Given the description of an element on the screen output the (x, y) to click on. 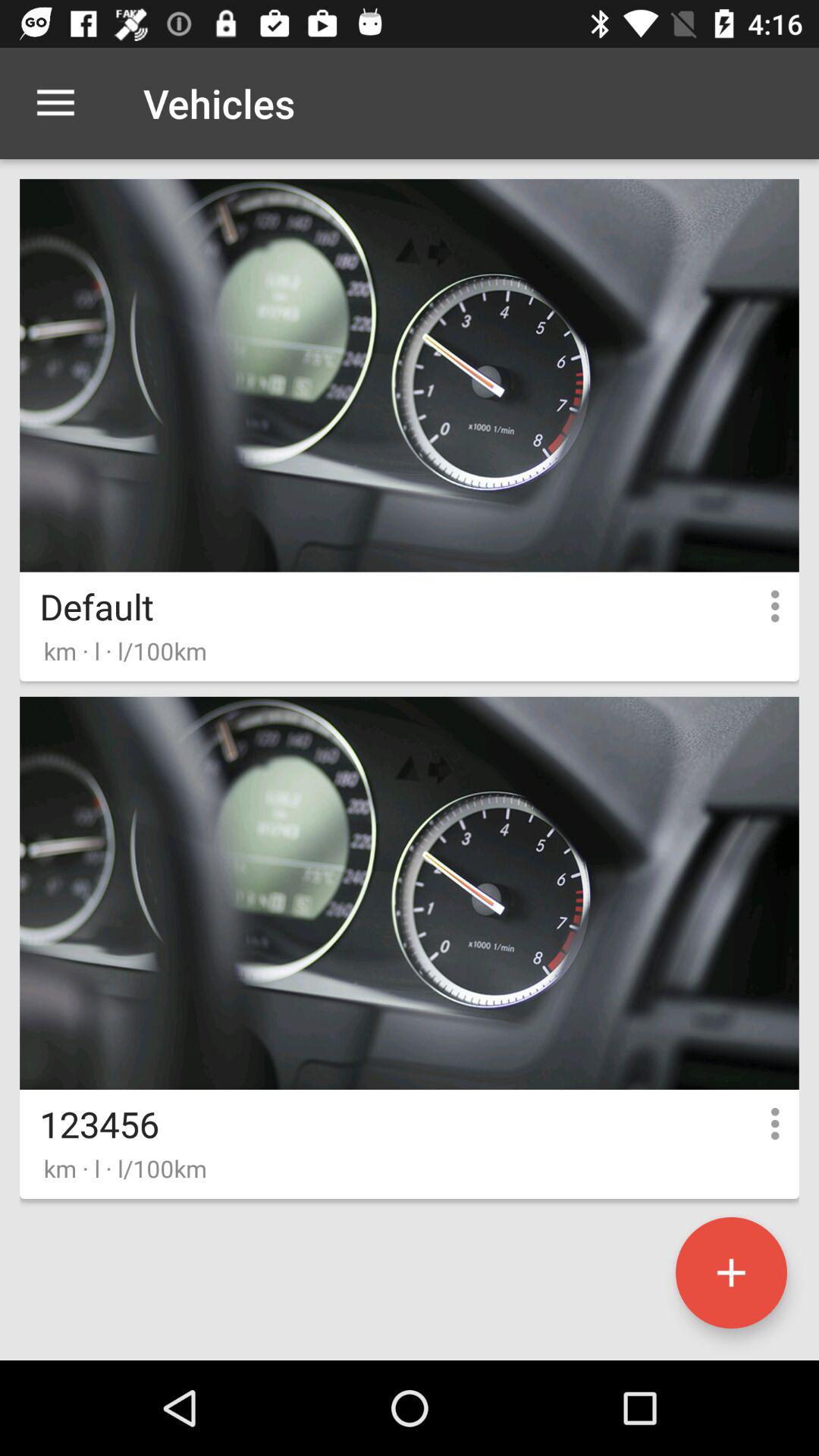
add image (731, 1272)
